Given the description of an element on the screen output the (x, y) to click on. 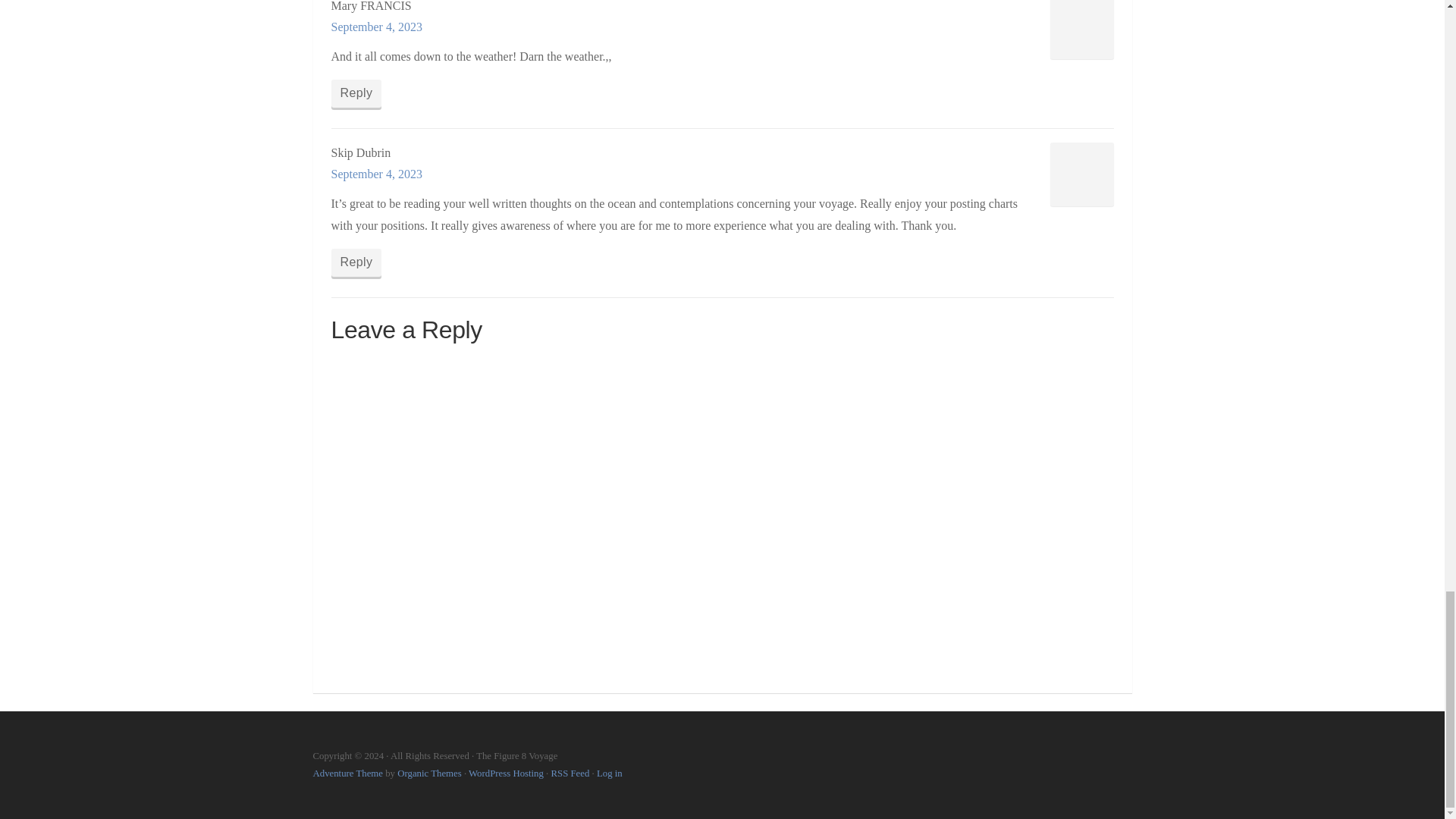
September 4, 2023 (376, 173)
Adventure Theme (347, 773)
Reply (355, 262)
Reply (355, 93)
WordPress Hosting (505, 773)
September 4, 2023 (376, 26)
Organic Themes (429, 773)
WordPress Hosting (505, 773)
RSS Feed (570, 773)
Log in (609, 773)
